Given the description of an element on the screen output the (x, y) to click on. 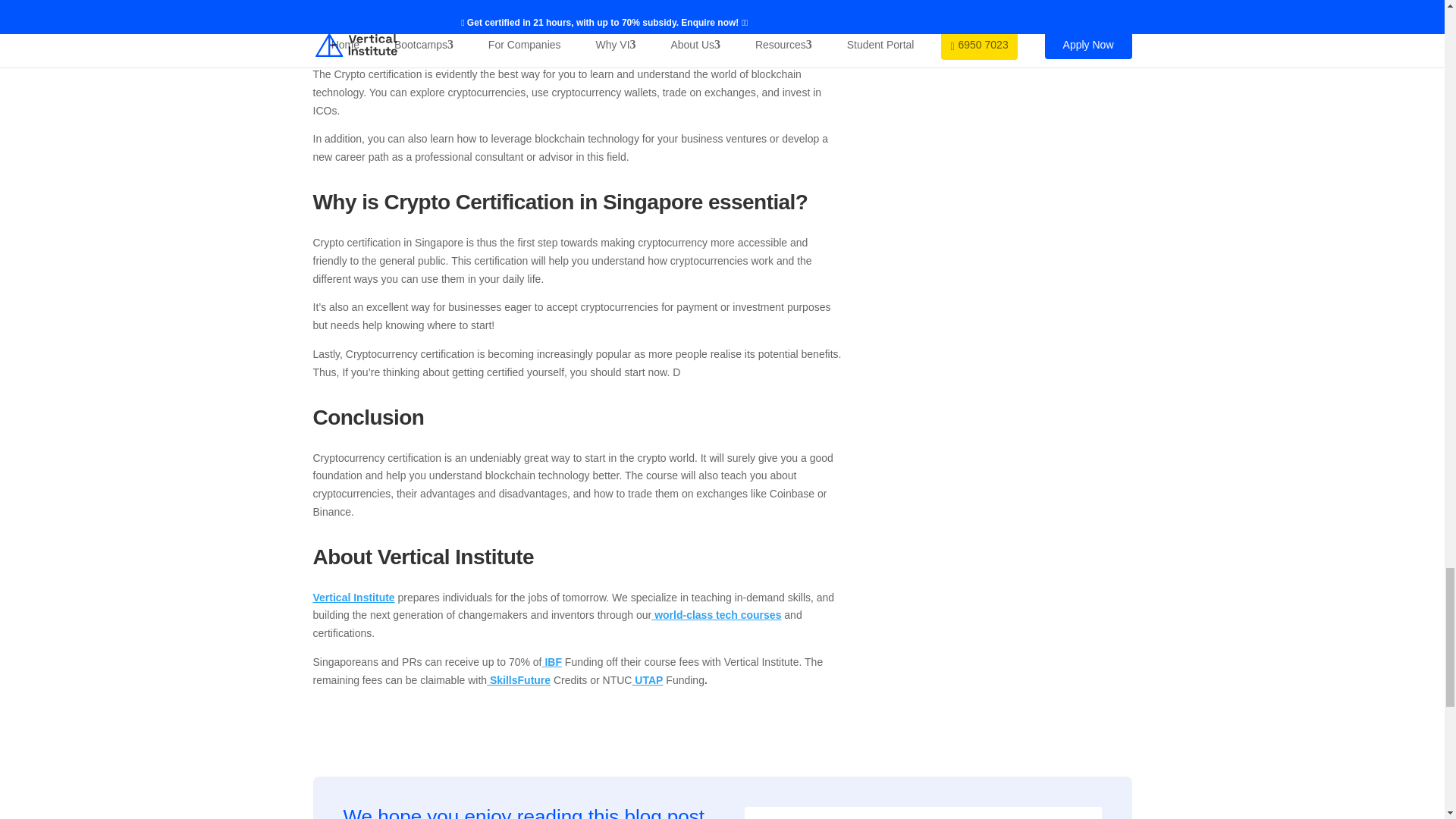
Vertical Institute (353, 597)
